Given the description of an element on the screen output the (x, y) to click on. 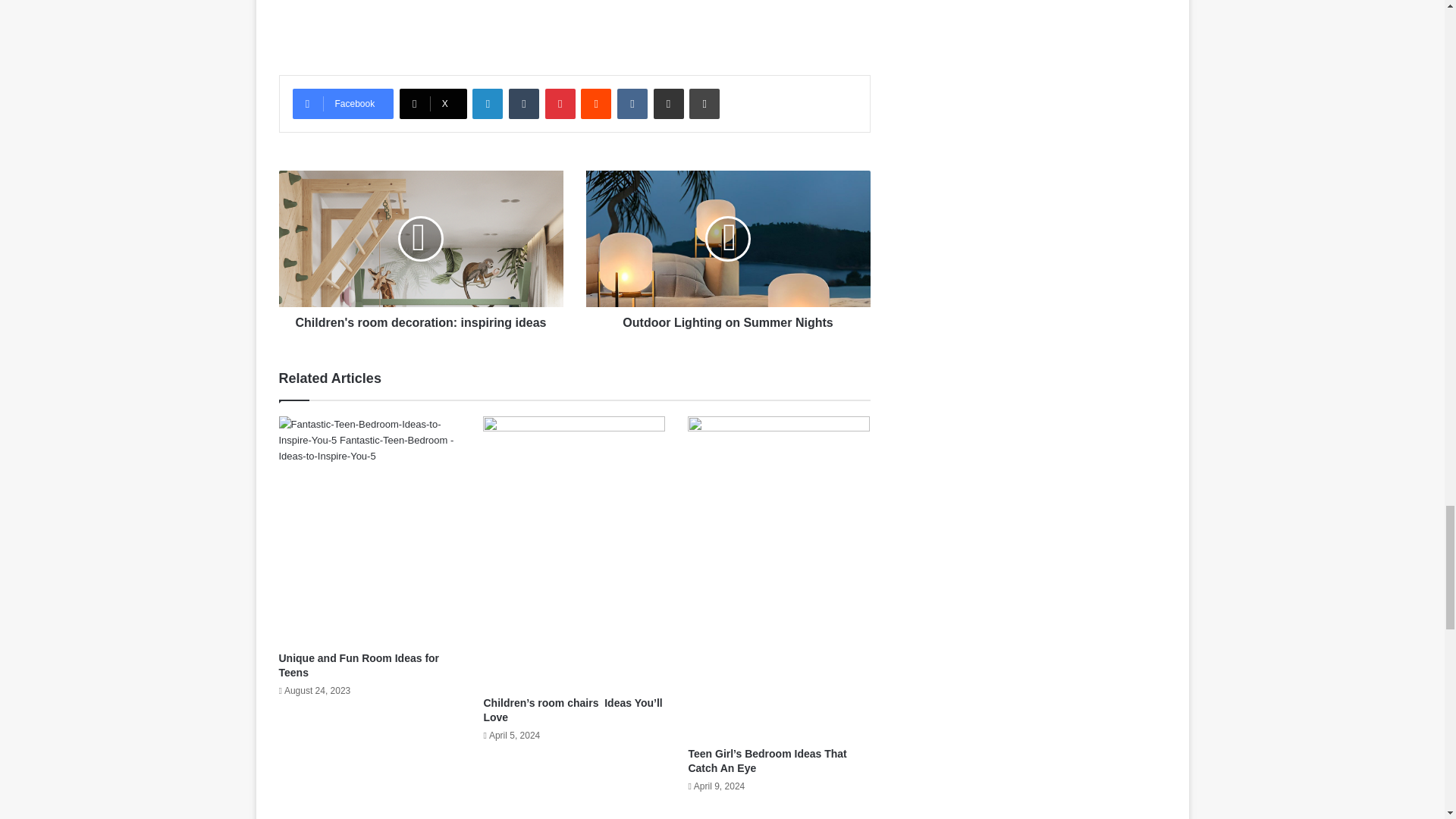
VKontakte (632, 103)
X (432, 103)
LinkedIn (486, 103)
Facebook (343, 103)
Share via Email (668, 103)
Facebook (343, 103)
Reddit (595, 103)
Pinterest (559, 103)
Tumblr (523, 103)
Print (703, 103)
